Given the description of an element on the screen output the (x, y) to click on. 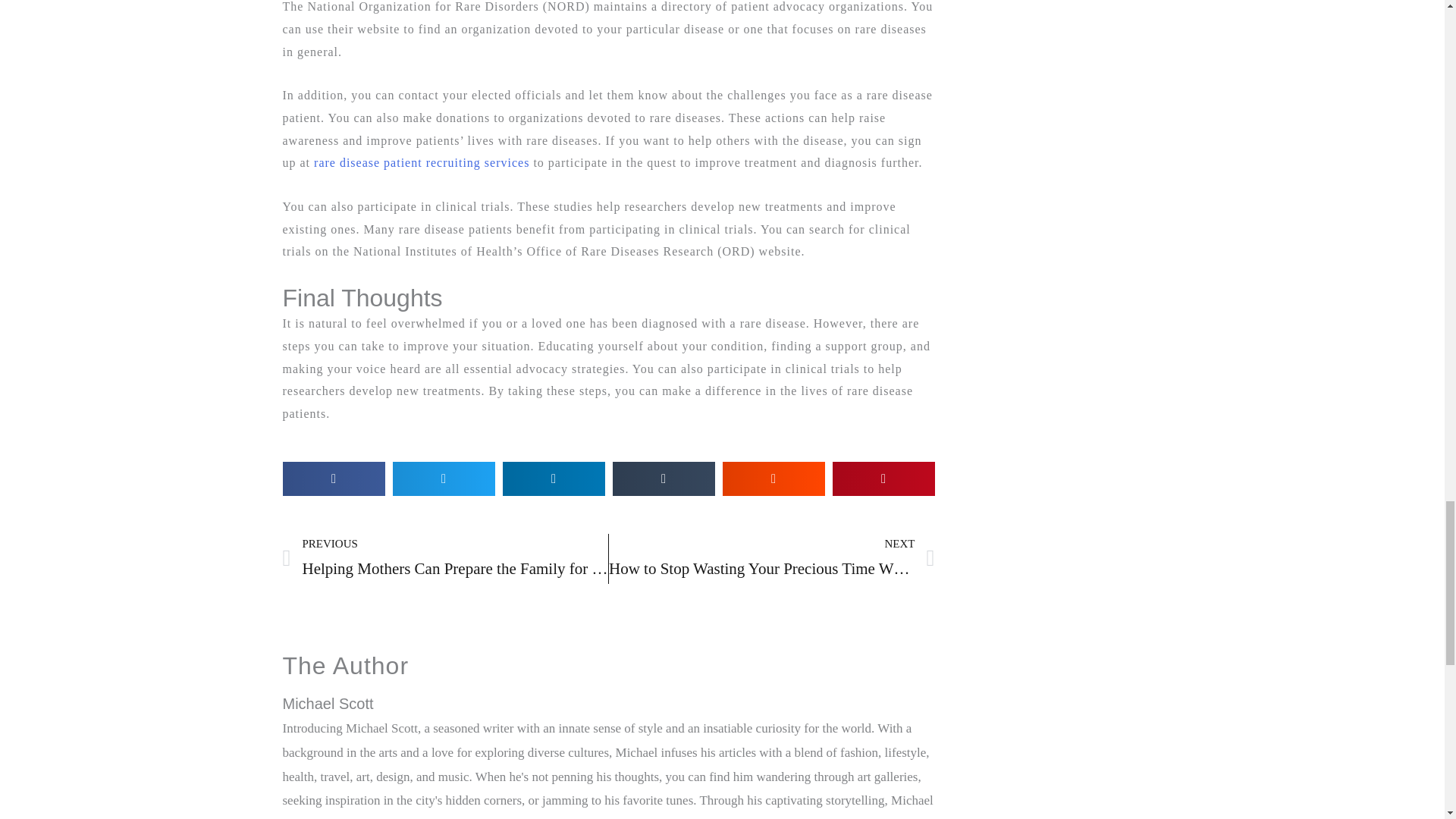
rare disease patient recruiting services (771, 558)
